Given the description of an element on the screen output the (x, y) to click on. 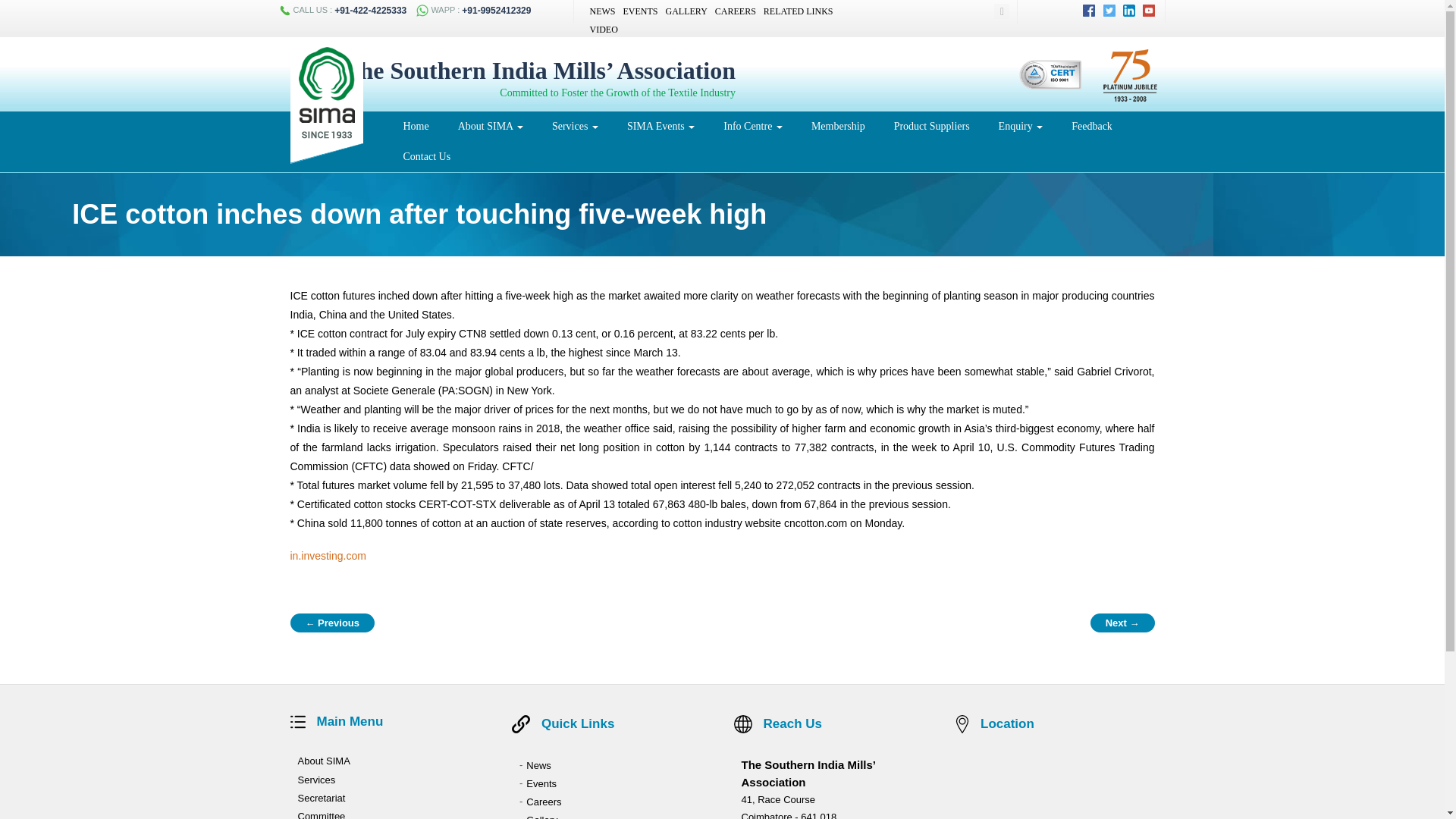
Services (574, 126)
Search here... (993, 11)
NEWS (601, 10)
Home (415, 126)
About SIMA (490, 126)
Search here... (993, 11)
Services (574, 126)
RELATED LINKS (797, 10)
Home (415, 126)
Submit (986, 11)
EVENTS (640, 10)
About SIMA (490, 126)
GALLERY (685, 10)
VIDEO (603, 29)
CAREERS (734, 10)
